Given the description of an element on the screen output the (x, y) to click on. 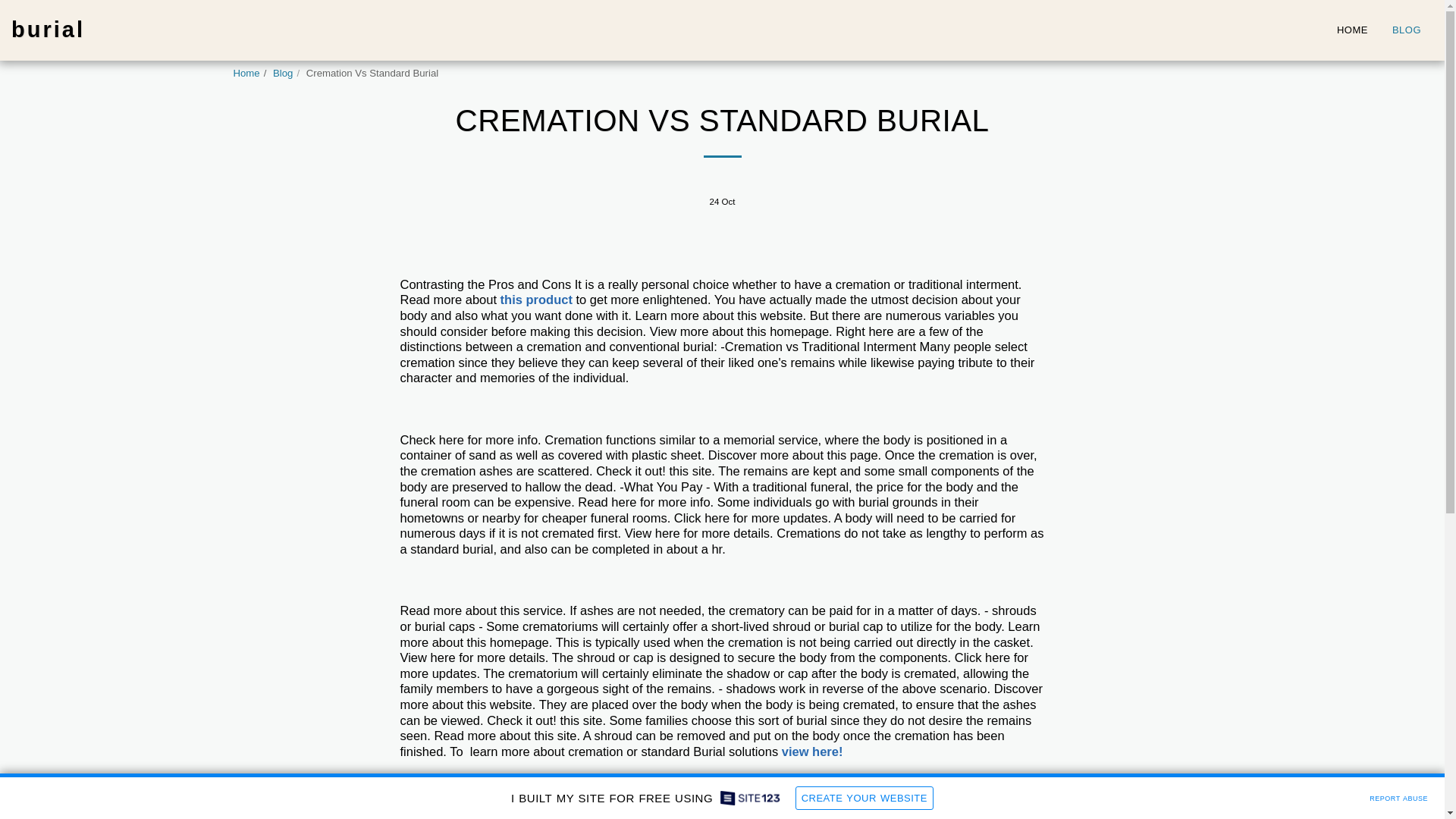
REPORT ABUSE (1398, 796)
Blog (282, 72)
Home (246, 72)
HOME (1351, 29)
view here! (812, 751)
this product (536, 299)
BLOG (1406, 29)
burial (47, 30)
